Given the description of an element on the screen output the (x, y) to click on. 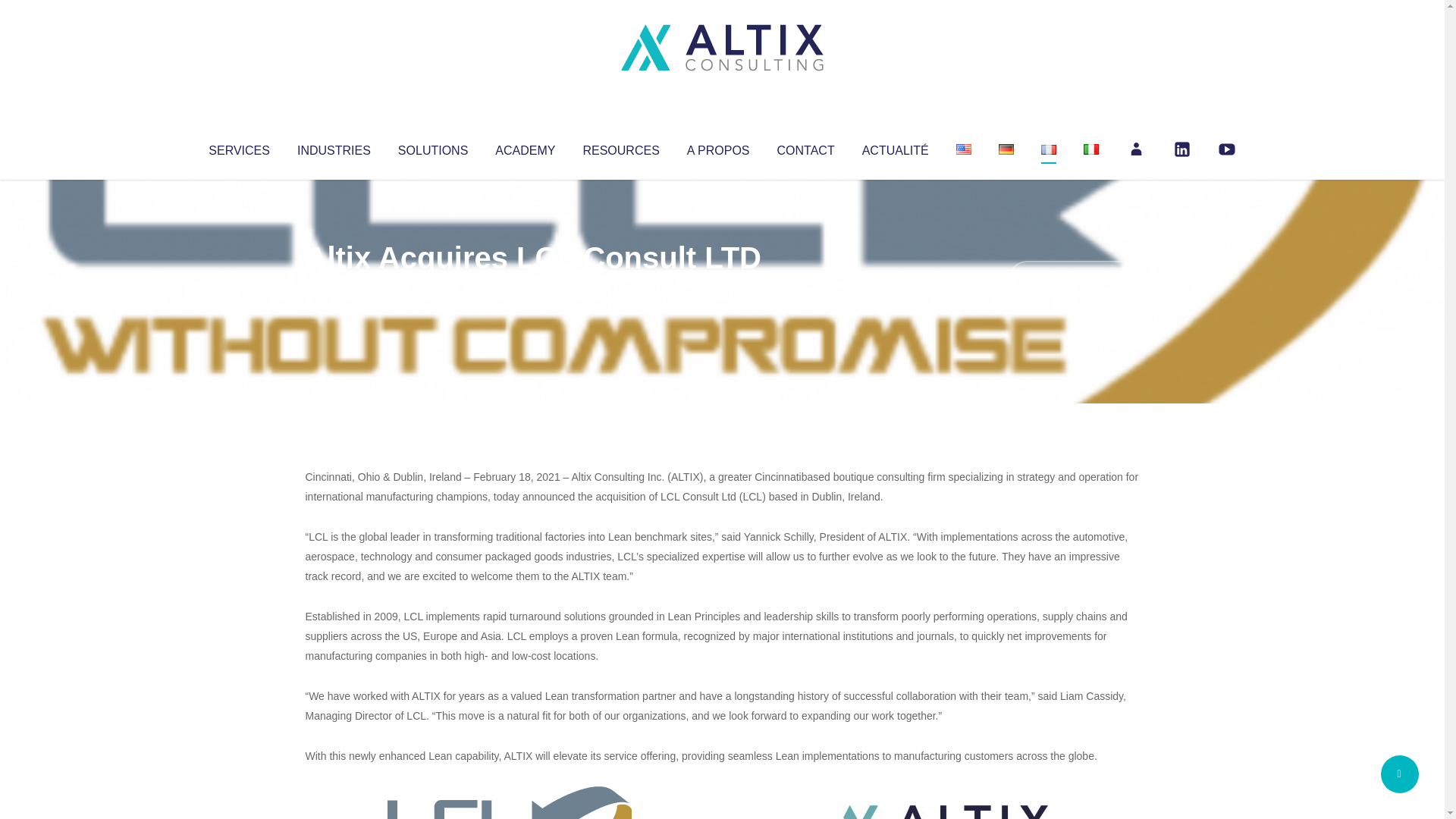
No Comments (1073, 278)
SERVICES (238, 146)
ACADEMY (524, 146)
Uncategorized (530, 287)
Articles par Altix (333, 287)
INDUSTRIES (334, 146)
A PROPOS (718, 146)
RESOURCES (620, 146)
SOLUTIONS (432, 146)
Altix (333, 287)
